Given the description of an element on the screen output the (x, y) to click on. 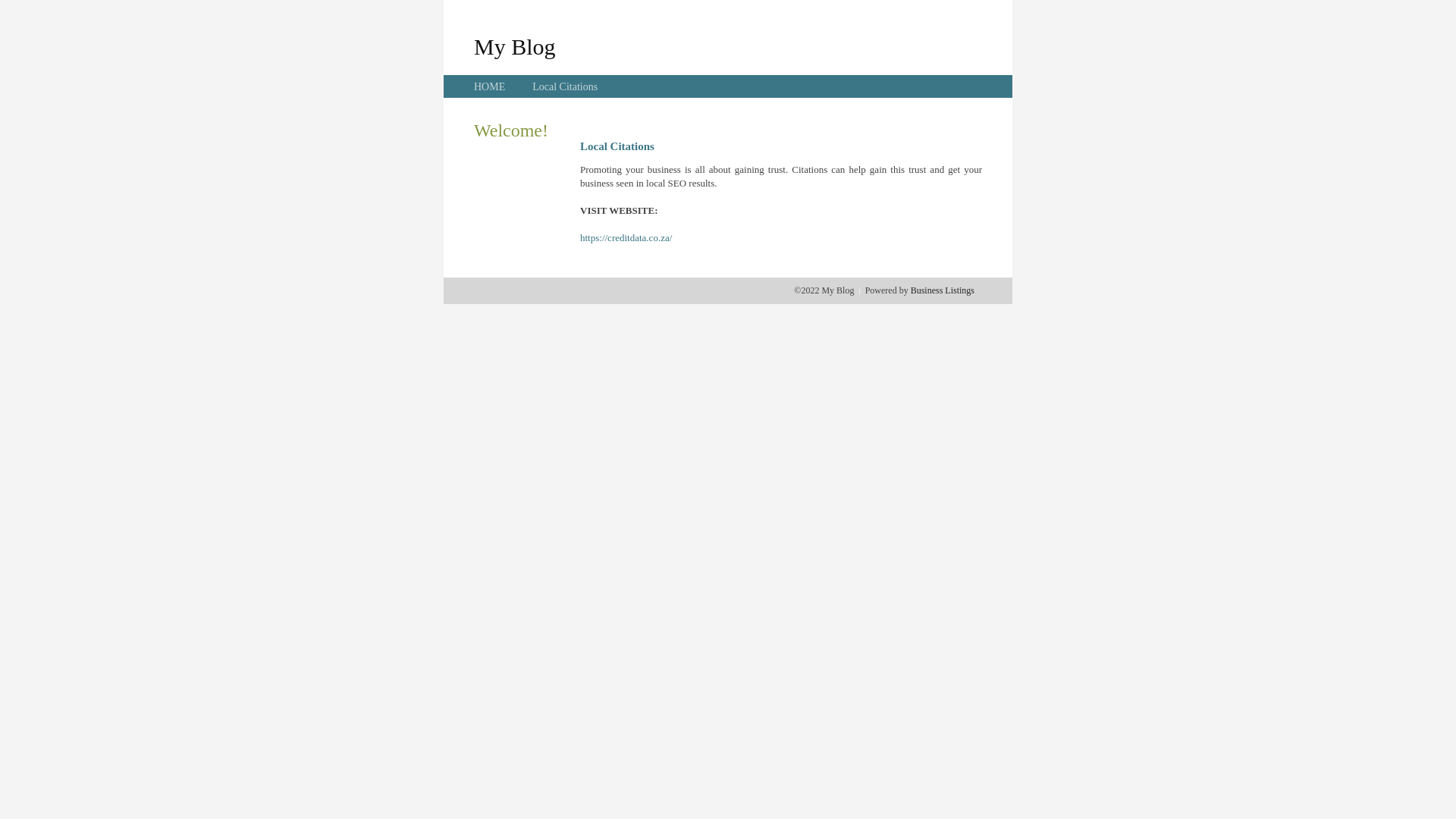
My Blog Element type: text (514, 46)
https://creditdata.co.za/ Element type: text (625, 237)
HOME Element type: text (489, 86)
Business Listings Element type: text (942, 290)
Local Citations Element type: text (564, 86)
